Given the description of an element on the screen output the (x, y) to click on. 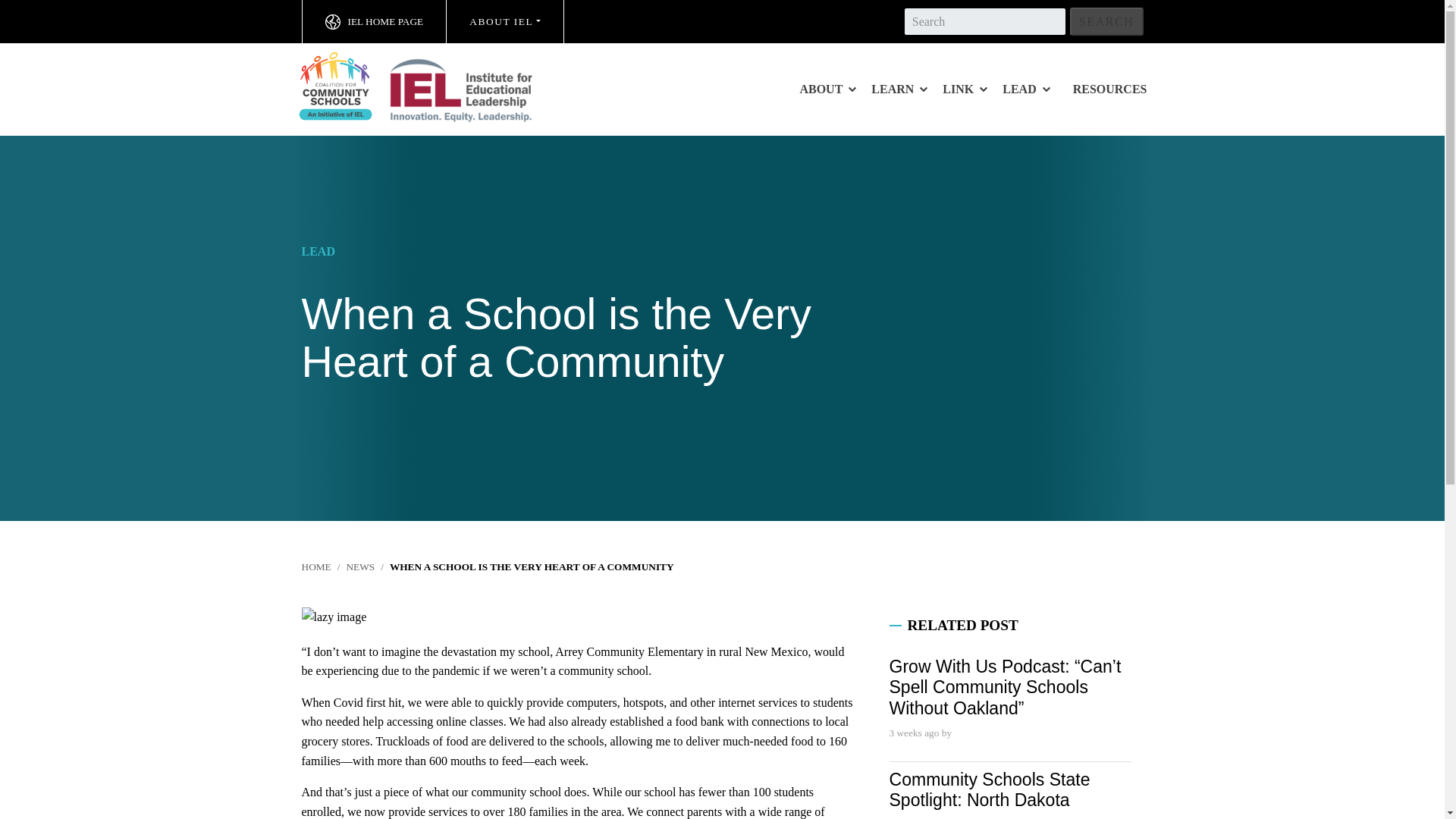
When a School is the Very Heart of a Community (532, 566)
LEARN (898, 88)
RESOURCES (1109, 88)
SEARCH (1106, 21)
ABOUT (827, 88)
LEAD (1025, 88)
LINK (964, 88)
Community Schools (429, 86)
News (360, 566)
Home (316, 566)
IEL HOME PAGE (373, 21)
ABOUT IEL (505, 21)
